Given the description of an element on the screen output the (x, y) to click on. 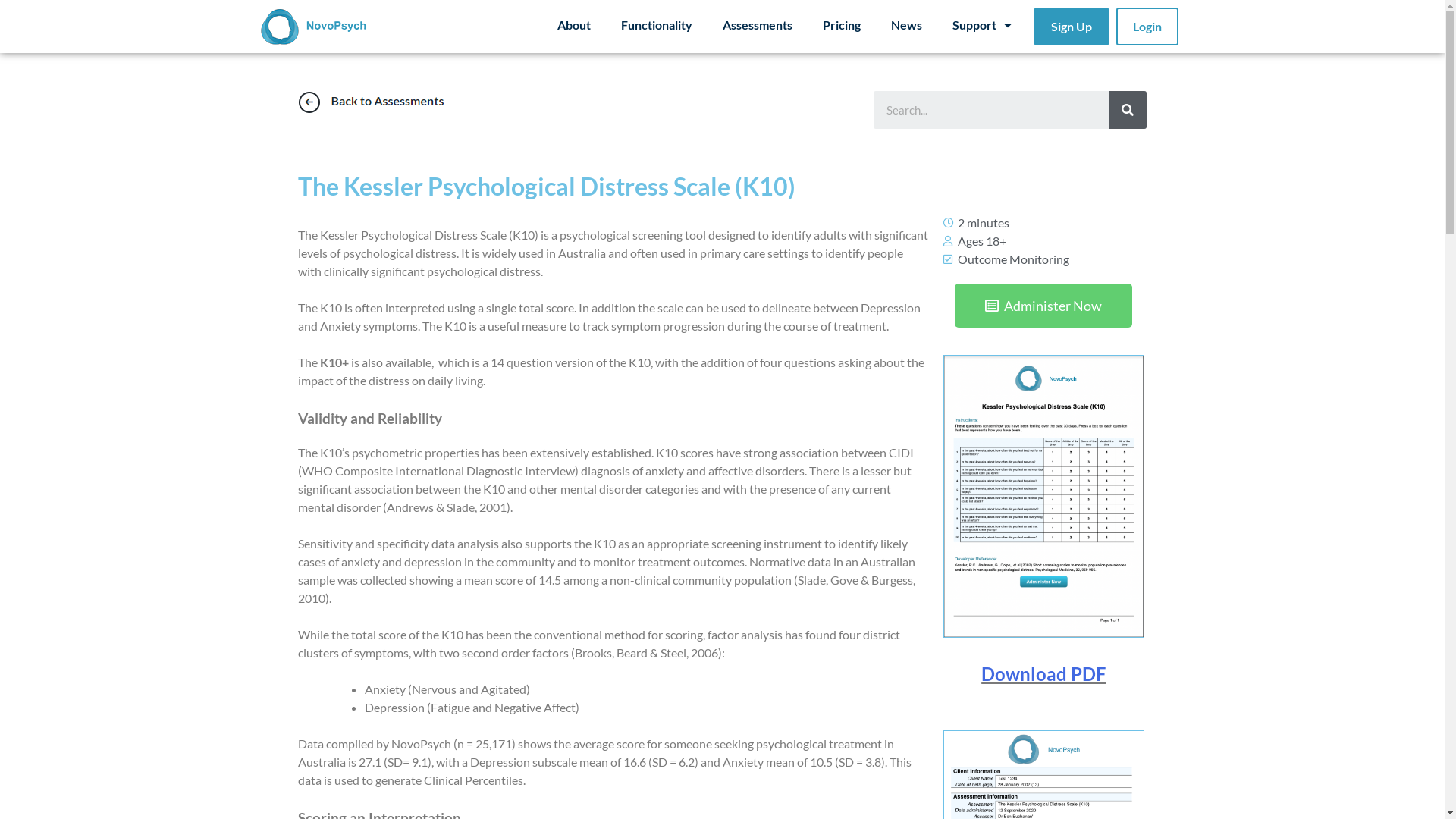
About Element type: text (573, 24)
Download PDF Element type: text (1043, 673)
Login Element type: text (1146, 26)
Pricing Element type: text (841, 24)
Outcome Monitoring Element type: text (1013, 258)
News Element type: text (906, 24)
Search Element type: hover (1127, 109)
Support Element type: text (981, 24)
Functionality Element type: text (656, 24)
Sign Up Element type: text (1071, 26)
Administer Now Element type: text (1043, 305)
Search Element type: hover (990, 109)
Assessments Element type: text (757, 24)
